Given the description of an element on the screen output the (x, y) to click on. 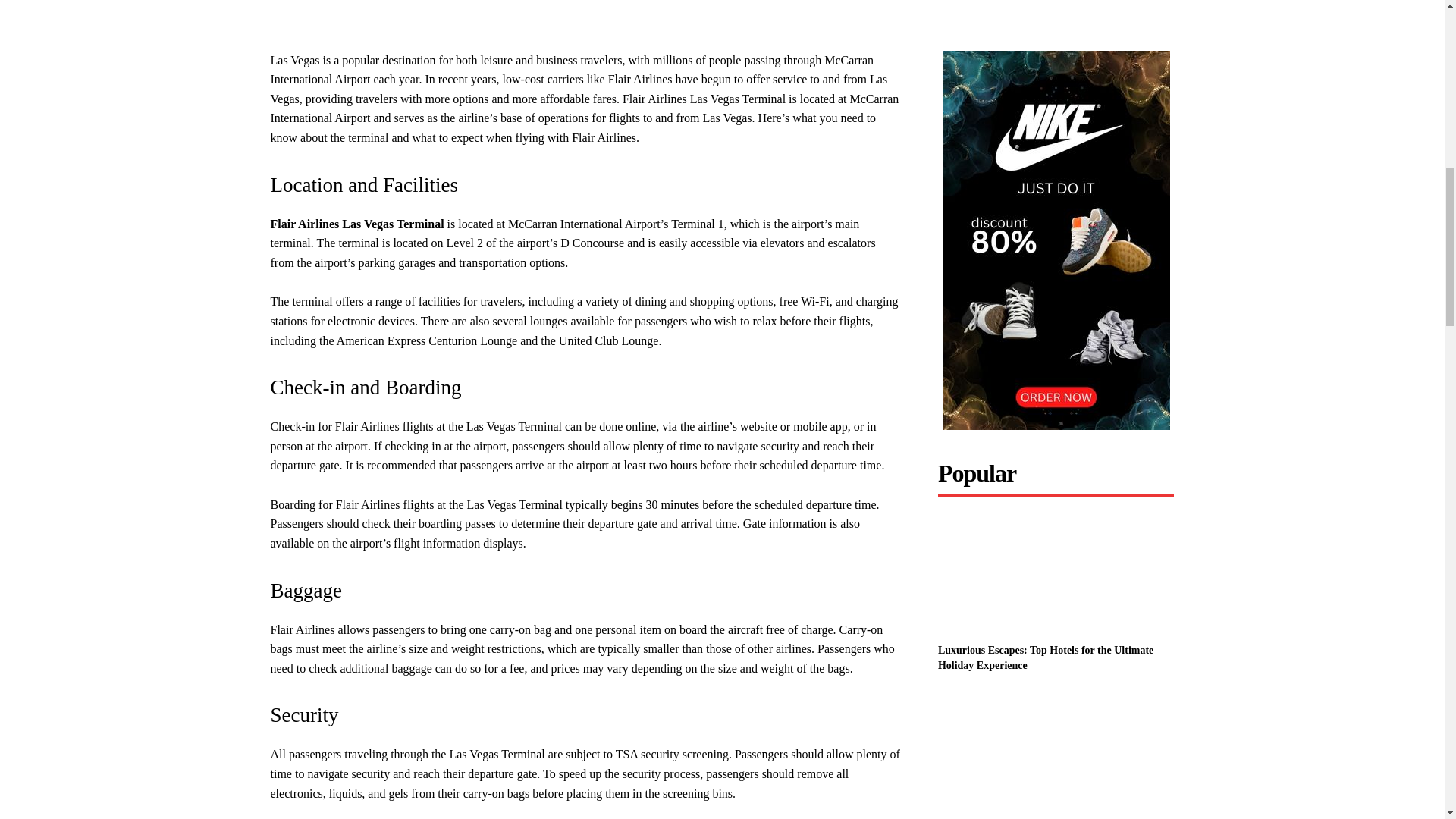
Seoul Sizzles: Top Fun Spots in the Korean Capital (1055, 751)
